Given the description of an element on the screen output the (x, y) to click on. 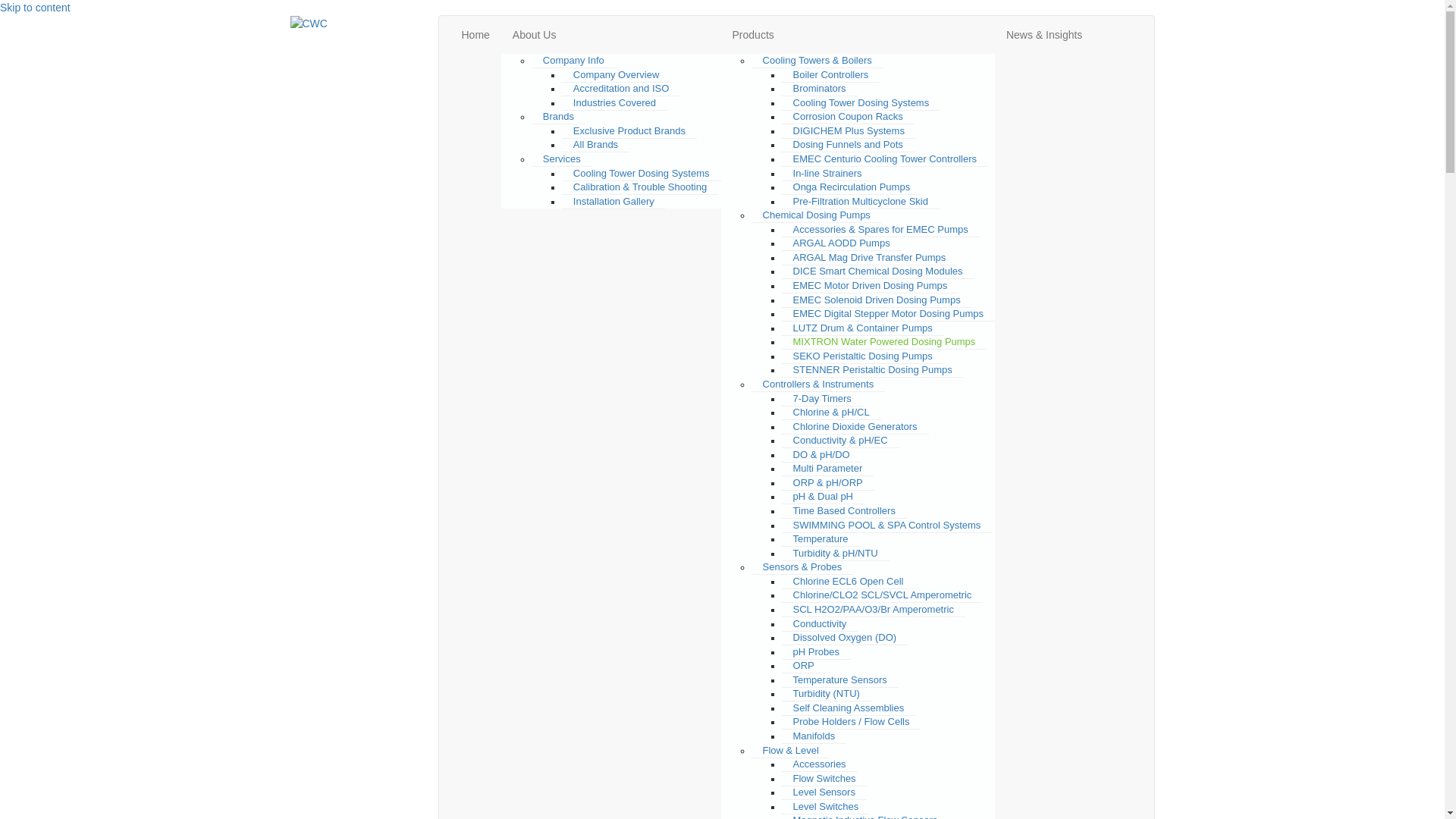
DICE Smart Chemical Dosing Modules Element type: text (877, 271)
Time Based Controllers Element type: text (843, 510)
EMEC Digital Stepper Motor Dosing Pumps Element type: text (887, 313)
Chlorine ECL6 Open Cell Element type: text (848, 581)
EMEC Solenoid Driven Dosing Pumps Element type: text (876, 299)
Conductivity Element type: text (819, 622)
Skip to content Element type: text (35, 7)
pH Probes Element type: text (815, 651)
Dosing Funnels and Pots Element type: text (847, 144)
Brands Element type: text (558, 116)
Controllers & Instruments Element type: text (818, 384)
DO & pH/DO Element type: text (821, 454)
Onga Recirculation Pumps Element type: text (851, 186)
Dissolved Oxygen (DO) Element type: text (844, 637)
Temperature Sensors Element type: text (839, 679)
Turbidity (NTU) Element type: text (826, 693)
Exclusive Product Brands Element type: text (628, 130)
ARGAL AODD Pumps Element type: text (841, 243)
Sensors & Probes Element type: text (802, 566)
Level Sensors Element type: text (823, 792)
Company Overview Element type: text (615, 74)
Flow Switches Element type: text (824, 778)
Chlorine/CLO2 SCL/SVCL Amperometric Element type: text (882, 594)
Manifolds Element type: text (814, 735)
Accessories & Spares for EMEC Pumps Element type: text (880, 229)
Calibration & Trouble Shooting Element type: text (639, 186)
Installation Gallery Element type: text (613, 201)
ORP & pH/ORP Element type: text (827, 482)
Cooling Towers & Boilers Element type: text (817, 60)
About Us Element type: text (611, 34)
Cooling Tower Dosing Systems Element type: text (861, 102)
EMEC Centurio Cooling Tower Controllers Element type: text (884, 158)
SEKO Peristaltic Dosing Pumps Element type: text (862, 356)
ARGAL Mag Drive Transfer Pumps Element type: text (869, 257)
ORP Element type: text (803, 665)
Accreditation and ISO Element type: text (620, 88)
Boiler Controllers Element type: text (830, 74)
Multi Parameter Element type: text (827, 468)
Probe Holders / Flow Cells Element type: text (851, 721)
STENNER Peristaltic Dosing Pumps Element type: text (872, 369)
DIGICHEM Plus Systems Element type: text (848, 130)
Temperature Element type: text (820, 538)
Level Switches Element type: text (825, 806)
7-Day Timers Element type: text (821, 398)
In-line Strainers Element type: text (827, 172)
Corrosion Coupon Racks Element type: text (847, 116)
LUTZ Drum & Container Pumps Element type: text (862, 327)
SWIMMING POOL & SPA Control Systems Element type: text (886, 525)
Turbidity & pH/NTU Element type: text (835, 553)
Cooling Tower Dosing Systems Element type: text (641, 172)
Company Info Element type: text (573, 60)
Conductivity & pH/EC Element type: text (840, 440)
Chlorine Dioxide Generators Element type: text (854, 426)
pH & Dual pH Element type: text (822, 496)
MIXTRON Water Powered Dosing Pumps Element type: text (884, 341)
Chlorine & pH/CL Element type: text (831, 412)
Chemical Dosing Pumps Element type: text (816, 214)
Home Element type: text (475, 34)
EMEC Motor Driven Dosing Pumps Element type: text (870, 285)
Brominators Element type: text (819, 88)
Industries Covered Element type: text (614, 102)
Flow & Level Element type: text (790, 750)
SCL H2O2/PAA/O3/Br Amperometric Element type: text (873, 609)
Products Element type: text (857, 34)
Services Element type: text (561, 158)
Accessories Element type: text (819, 763)
All Brands Element type: text (595, 144)
News & Insights Element type: text (1043, 34)
Self Cleaning Assemblies Element type: text (848, 707)
Pre-Filtration Multicyclone Skid Element type: text (860, 201)
